Given the description of an element on the screen output the (x, y) to click on. 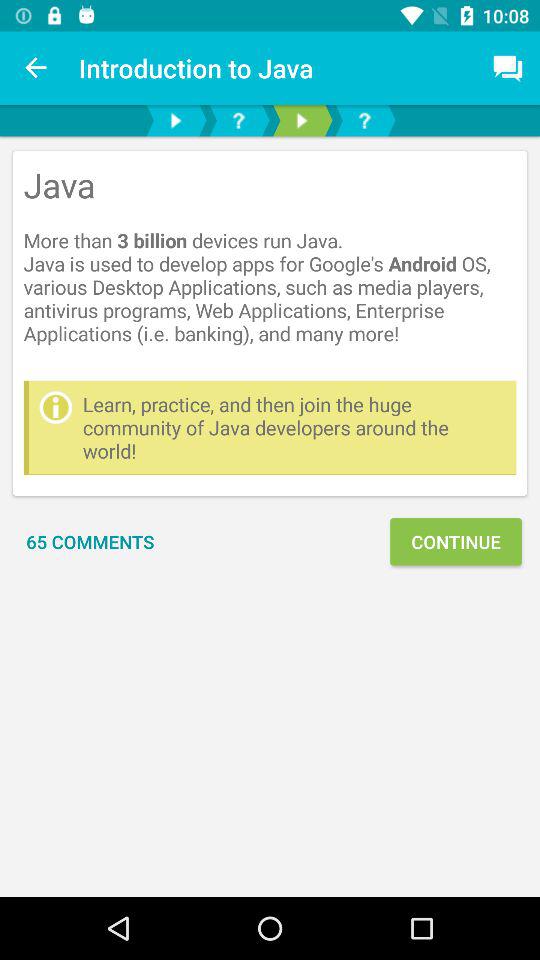
turn on the icon on the right (455, 541)
